Given the description of an element on the screen output the (x, y) to click on. 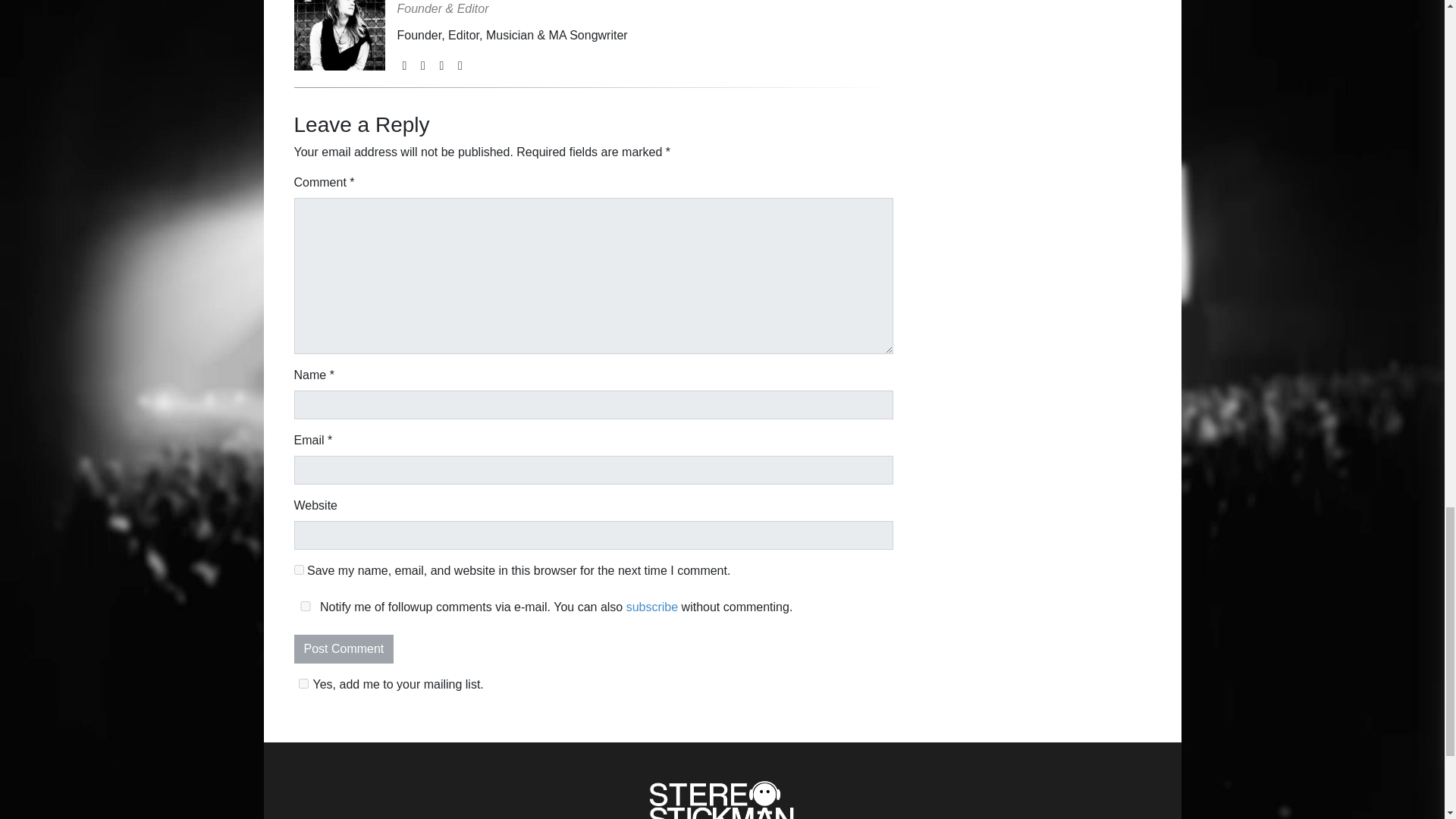
Post Comment (344, 648)
Post Comment (344, 648)
Rebecca Cullen (512, 2)
yes (305, 605)
1 (303, 683)
subscribe (652, 606)
yes (299, 569)
